Given the description of an element on the screen output the (x, y) to click on. 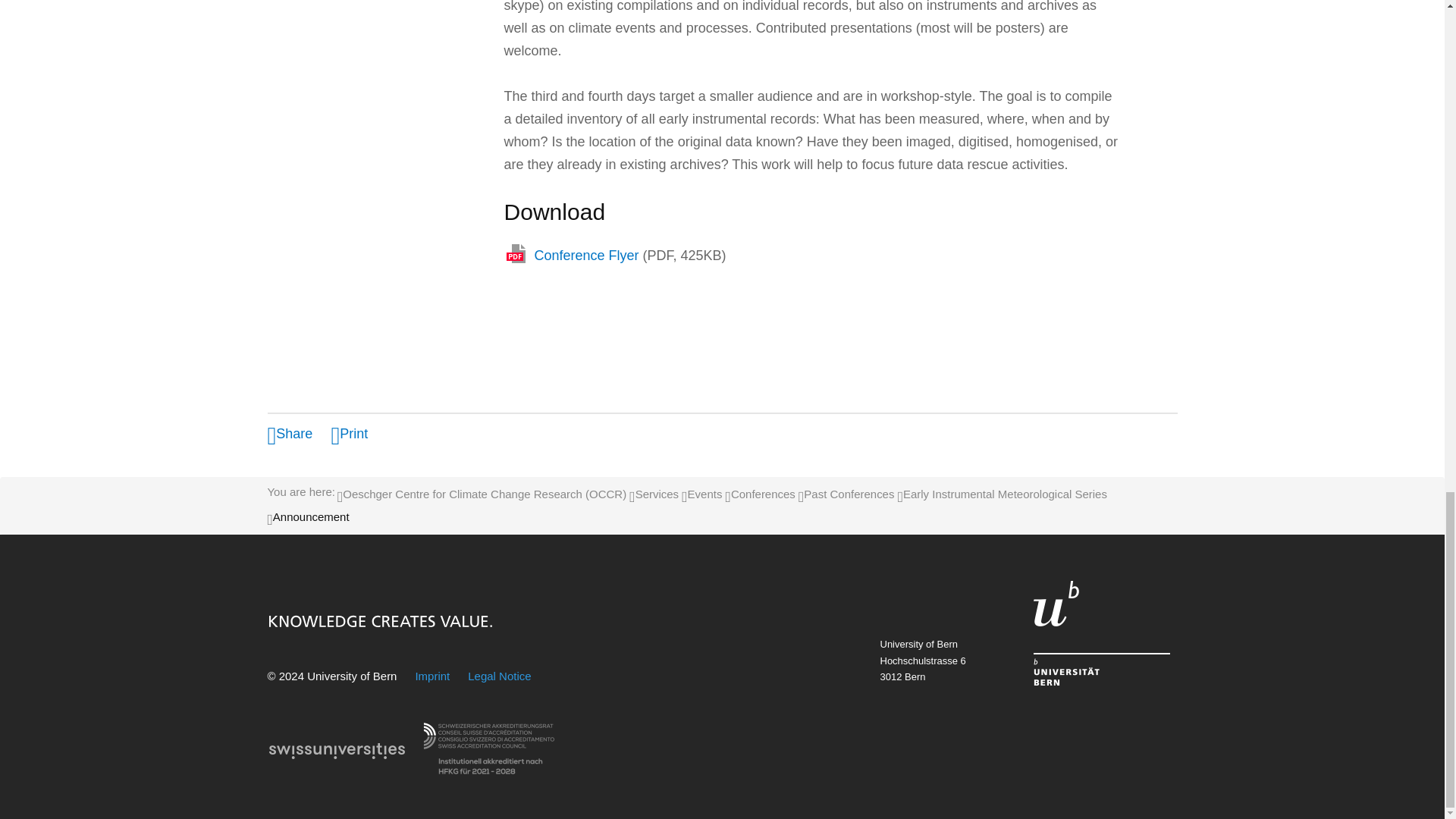
Share (289, 433)
